Given the description of an element on the screen output the (x, y) to click on. 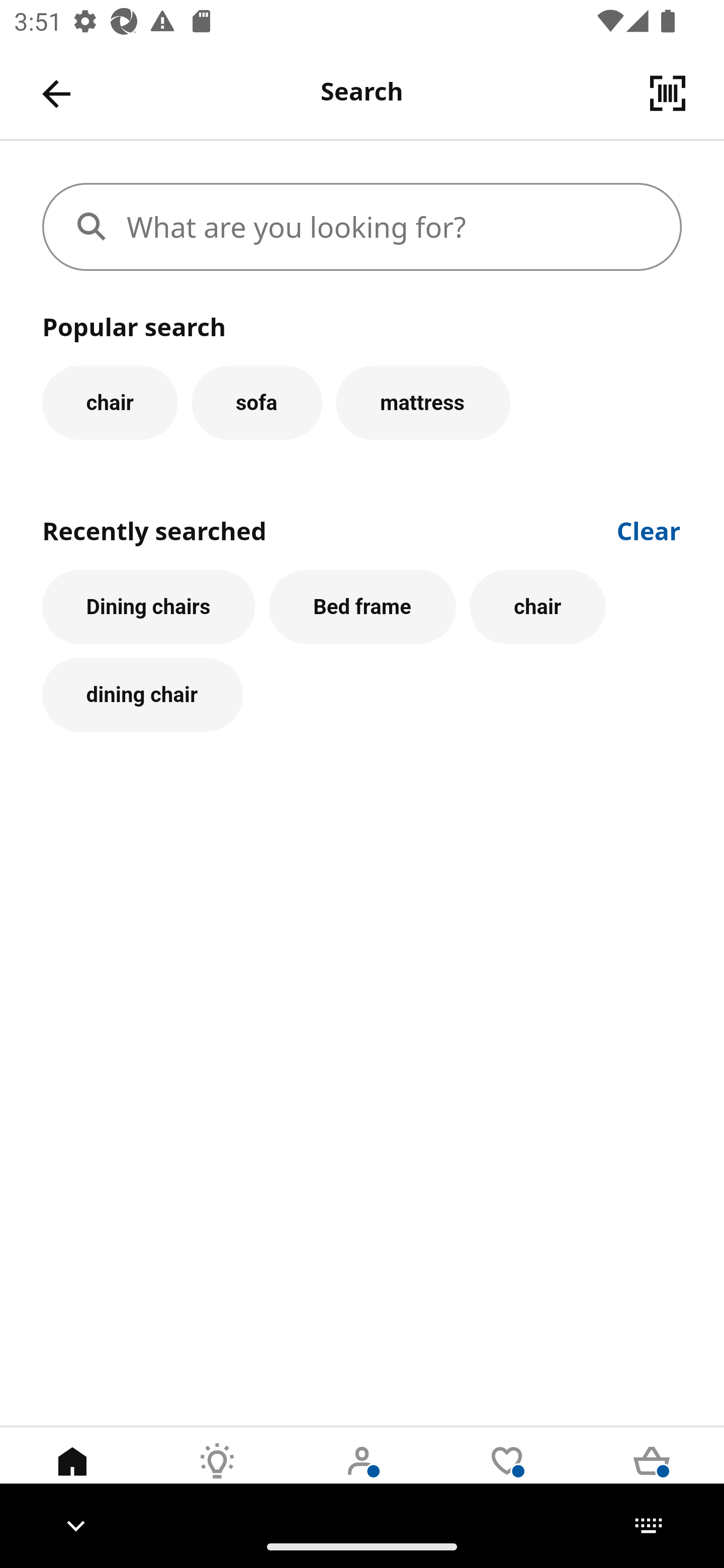
chair (109, 402)
sofa (256, 402)
mattress (423, 402)
Clear (649, 528)
Dining chairs (148, 606)
Bed frame (362, 606)
chair (537, 606)
dining chair (141, 695)
Home
Tab 1 of 5 (72, 1476)
Inspirations
Tab 2 of 5 (216, 1476)
User
Tab 3 of 5 (361, 1476)
Wishlist
Tab 4 of 5 (506, 1476)
Cart
Tab 5 of 5 (651, 1476)
